Given the description of an element on the screen output the (x, y) to click on. 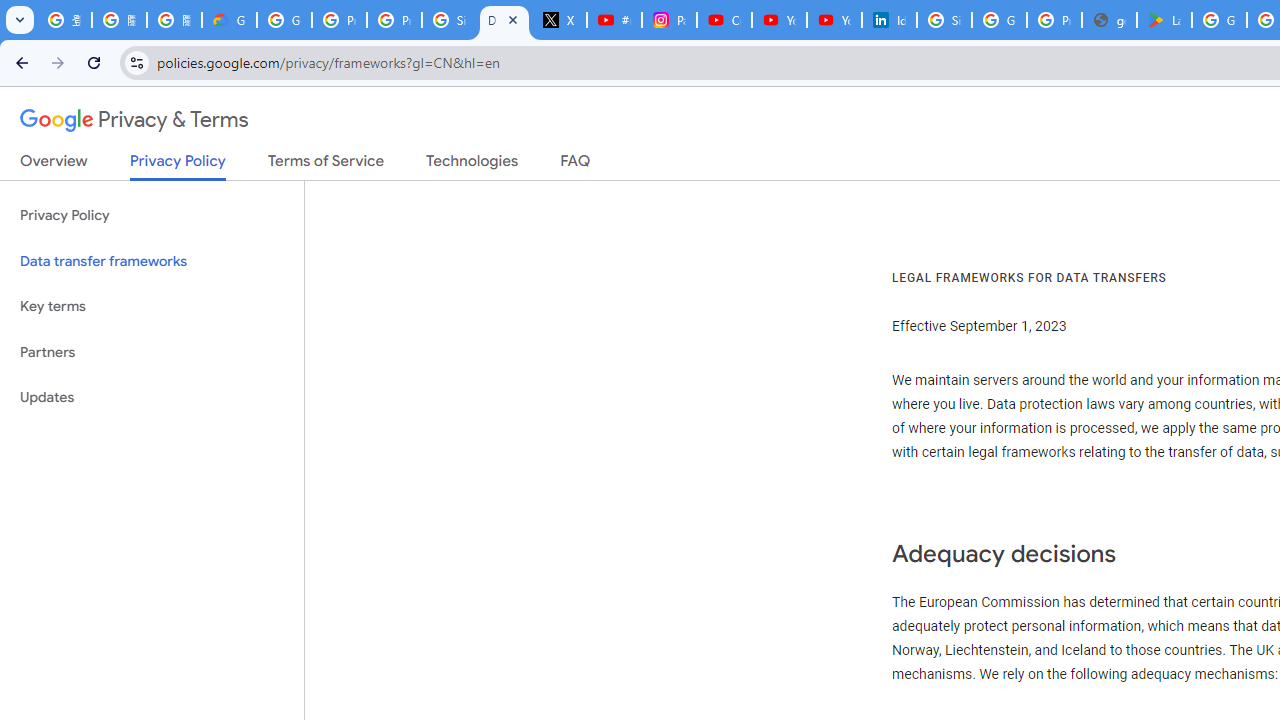
Sign in - Google Accounts (449, 20)
Partners (152, 352)
X (559, 20)
Last Shelter: Survival - Apps on Google Play (1163, 20)
Key terms (152, 306)
Privacy Help Center - Policies Help (394, 20)
Sign in - Google Accounts (943, 20)
